Given the description of an element on the screen output the (x, y) to click on. 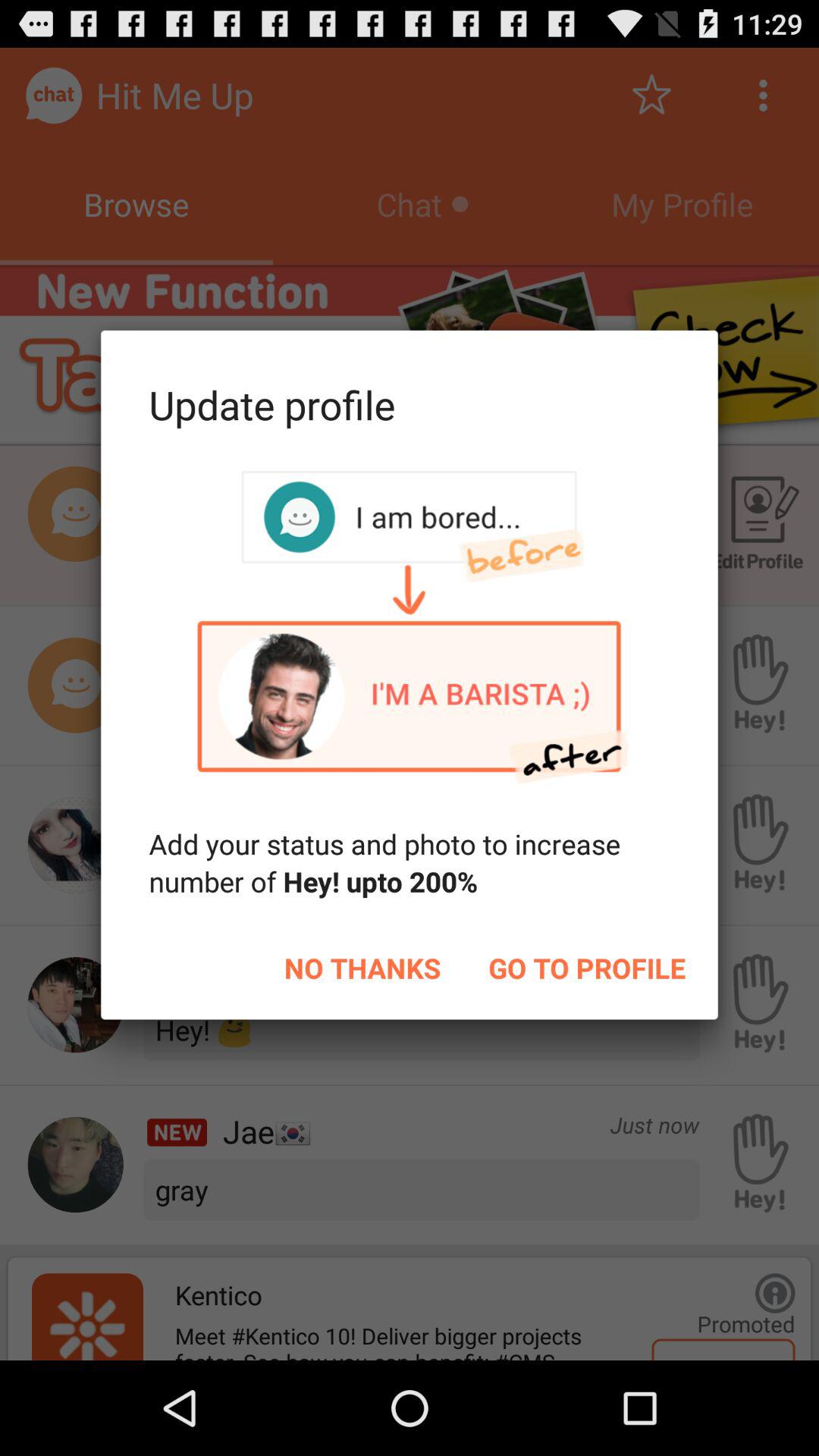
jump to the no thanks icon (362, 967)
